Given the description of an element on the screen output the (x, y) to click on. 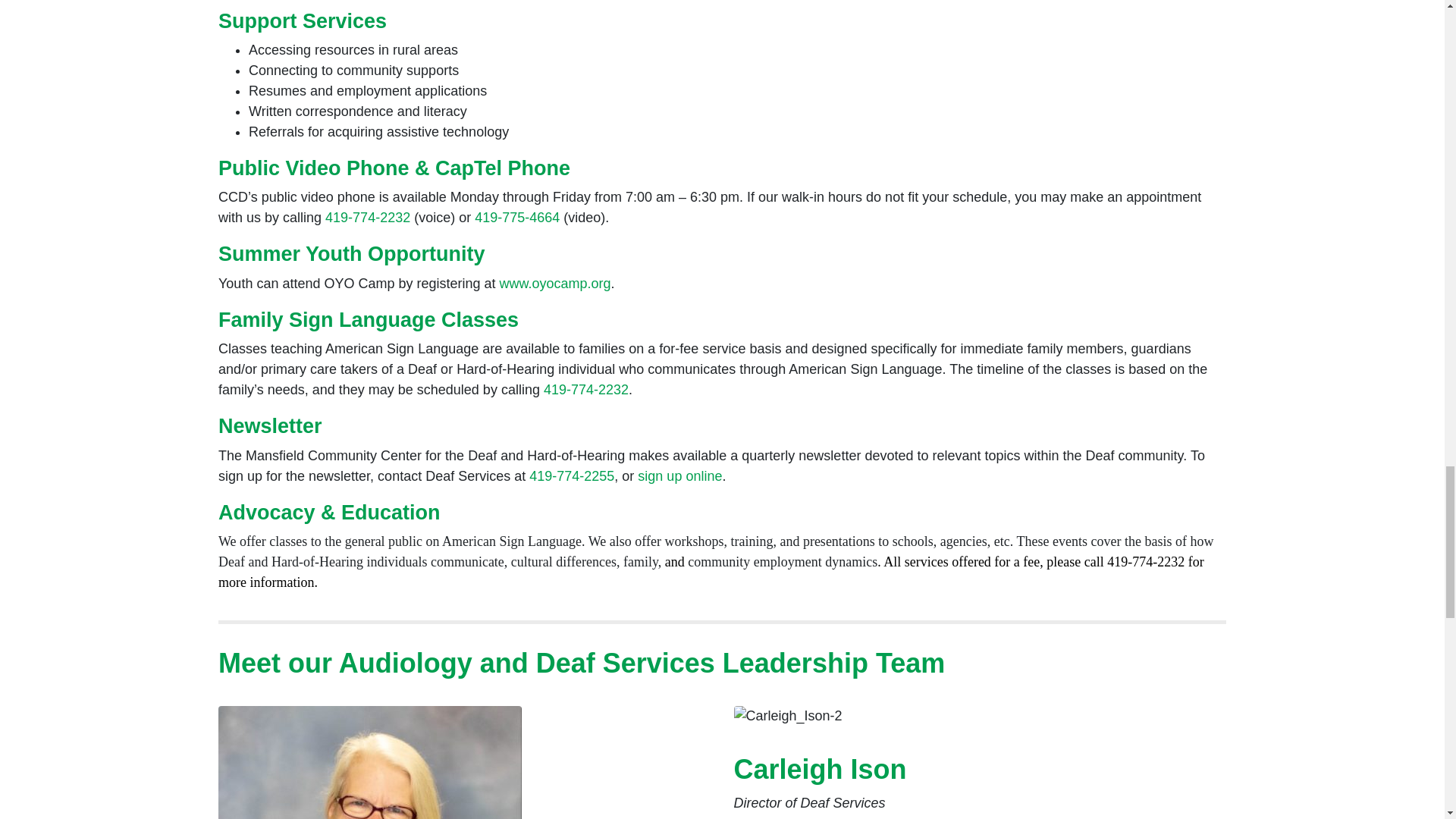
419-775-4664 (516, 217)
sign up online (679, 476)
419-774-2232 (367, 217)
419-774-2232 (585, 389)
Catalyst Headshots (369, 762)
419-774-2255 (571, 476)
www.oyocamp.org (555, 283)
